Given the description of an element on the screen output the (x, y) to click on. 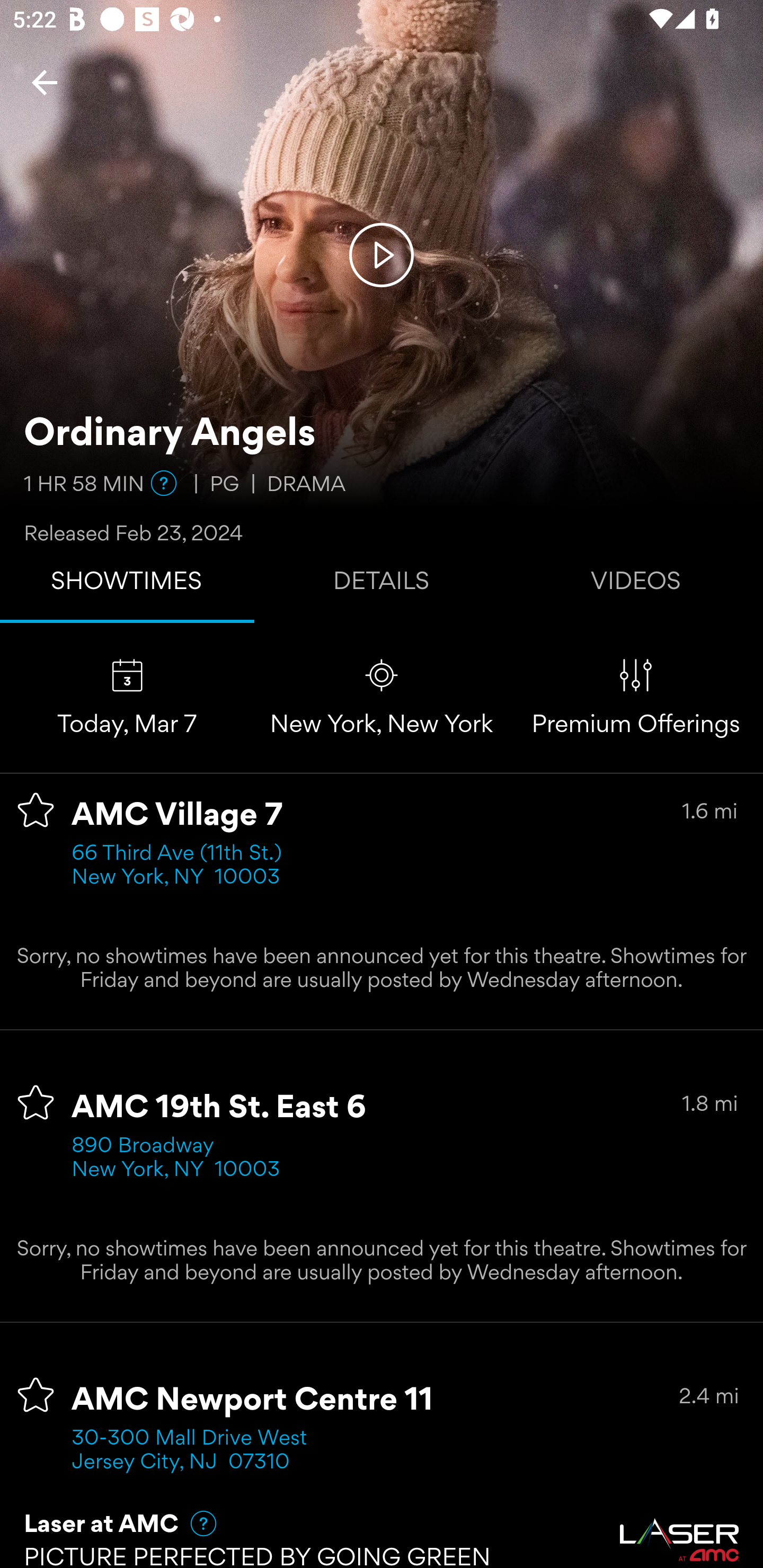
Back (44, 82)
Play (381, 254)
Help (163, 482)
SHOWTIMES
Tab 1 of 3 (127, 584)
DETAILS
Tab 2 of 3 (381, 584)
VIDEOS
Tab 3 of 3 (635, 584)
Change selected day
Today, Mar 7 (127, 697)
Change location
New York, New York (381, 697)
Premium Offerings
Premium Offerings (635, 697)
AMC Village 7 (177, 816)
66 Third Ave (11th St.)  
New York, NY  10003 (182, 866)
AMC 19th St. East 6 (219, 1108)
890 Broadway  
New York, NY  10003 (176, 1158)
AMC Newport Centre 11 (252, 1400)
30-300 Mall Drive West  
Jersey City, NJ  07310 (195, 1450)
Help (195, 1522)
